Given the description of an element on the screen output the (x, y) to click on. 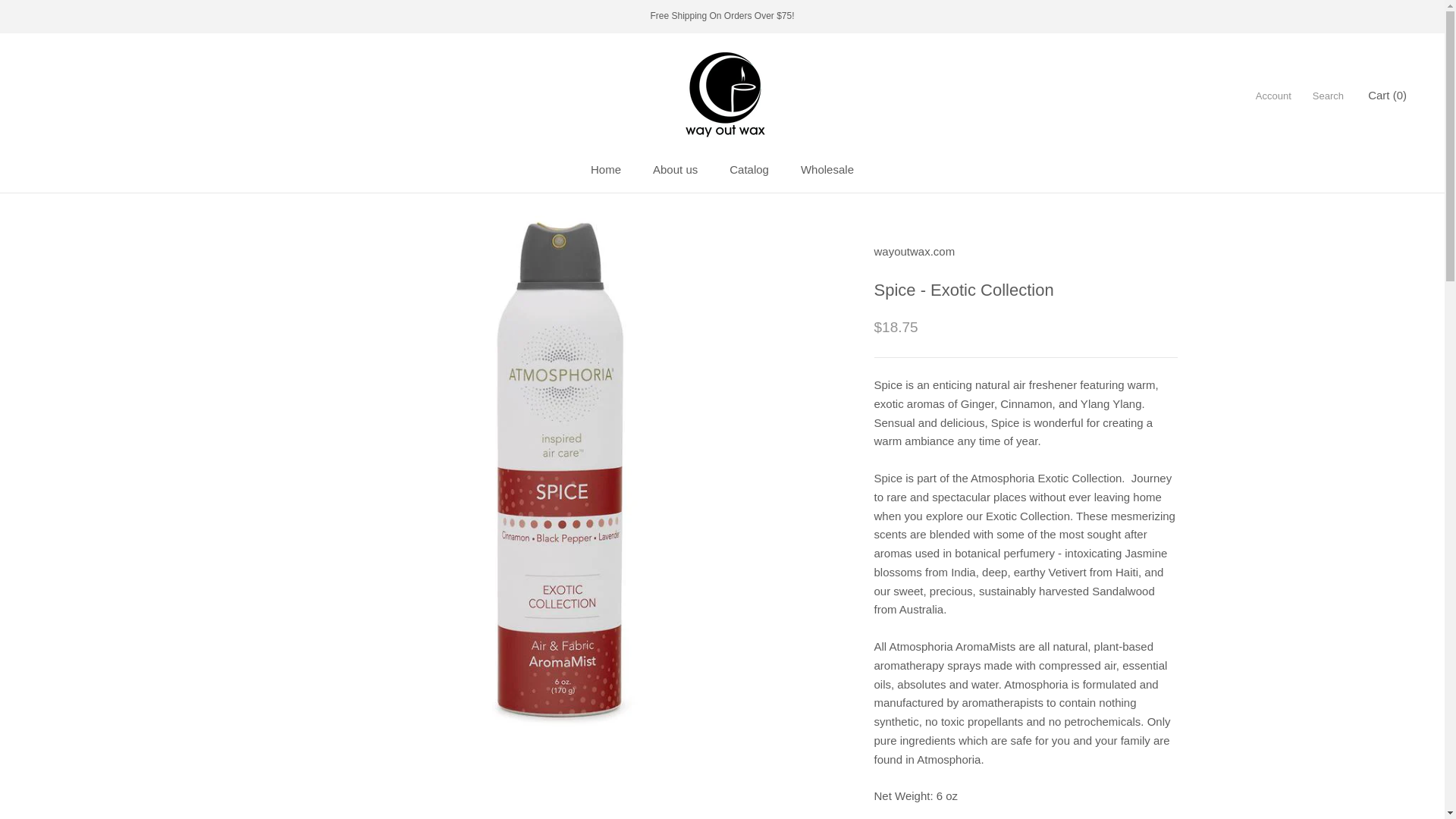
Account (606, 169)
About us (1273, 95)
Catalog (826, 169)
Search (674, 169)
